Given the description of an element on the screen output the (x, y) to click on. 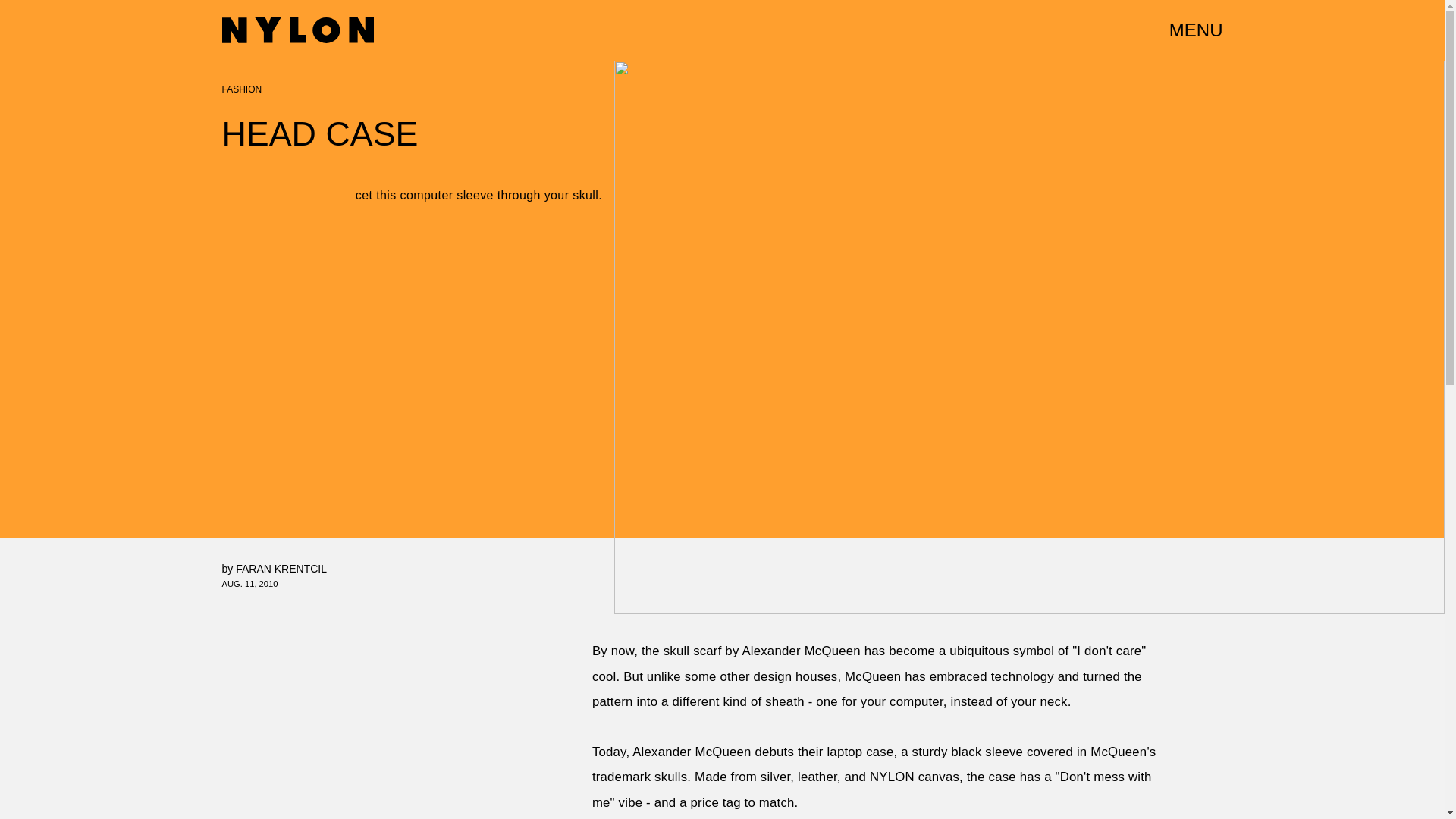
Nylon (296, 30)
